Given the description of an element on the screen output the (x, y) to click on. 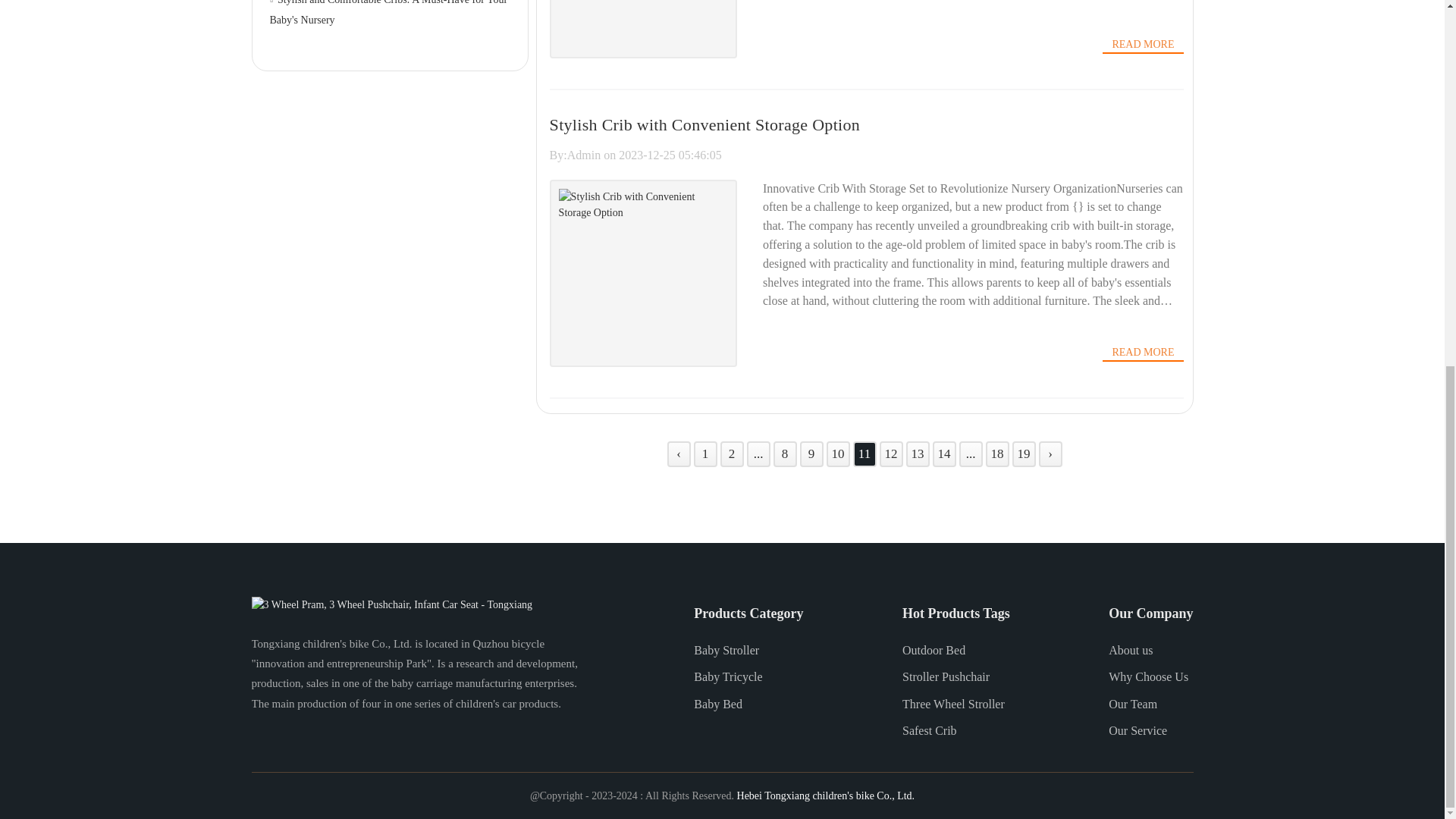
READ MORE (1142, 45)
1 (705, 454)
READ MORE (1142, 352)
Stylish Crib with Convenient Storage Option (705, 124)
